Given the description of an element on the screen output the (x, y) to click on. 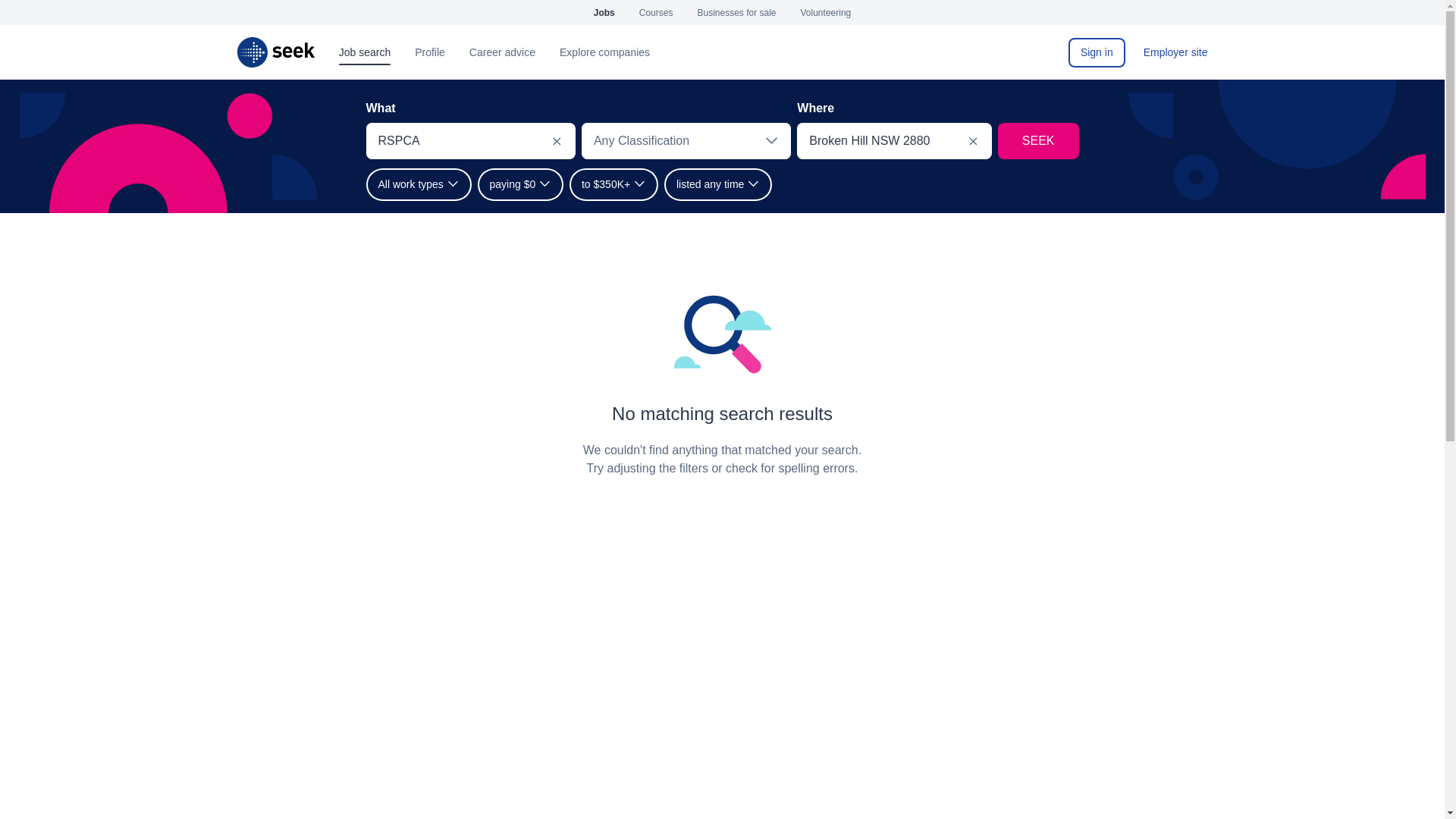
Employer site (1175, 52)
Volunteering (825, 12)
Job search (364, 52)
Sign in (1096, 51)
Career advice (501, 52)
Courses (655, 12)
Jobs (604, 12)
Businesses for sale (736, 12)
Explore companies (604, 52)
Sign in (1096, 51)
Broken Hill NSW 2880 (875, 140)
RSPCA (451, 140)
SEEK (274, 51)
Broken Hill NSW 2880 (875, 140)
